Given the description of an element on the screen output the (x, y) to click on. 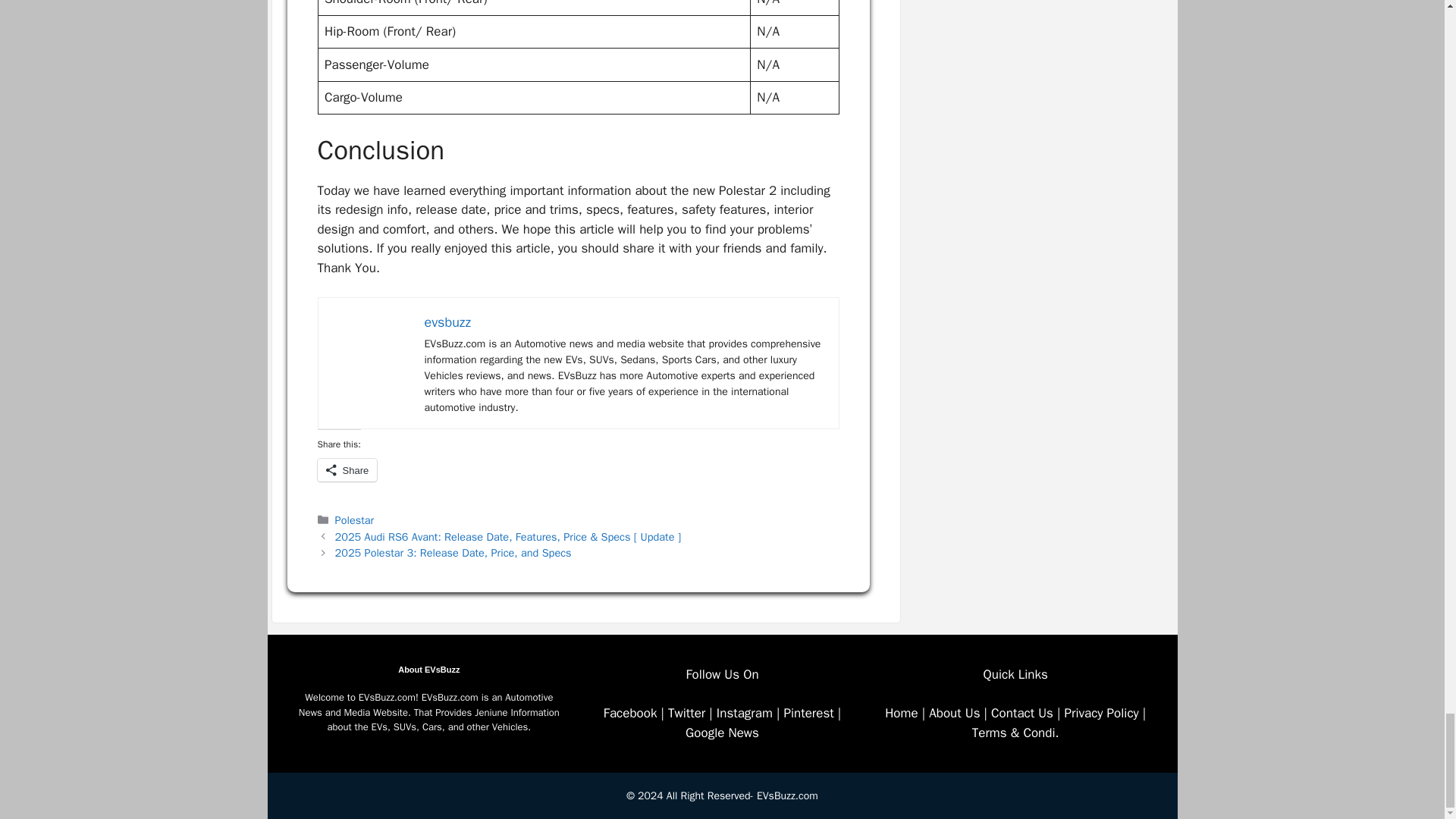
evsbuzz (448, 321)
2025 Polestar 3: Release Date, Price, and Specs (453, 552)
Share (347, 469)
Polestar (354, 520)
